Given the description of an element on the screen output the (x, y) to click on. 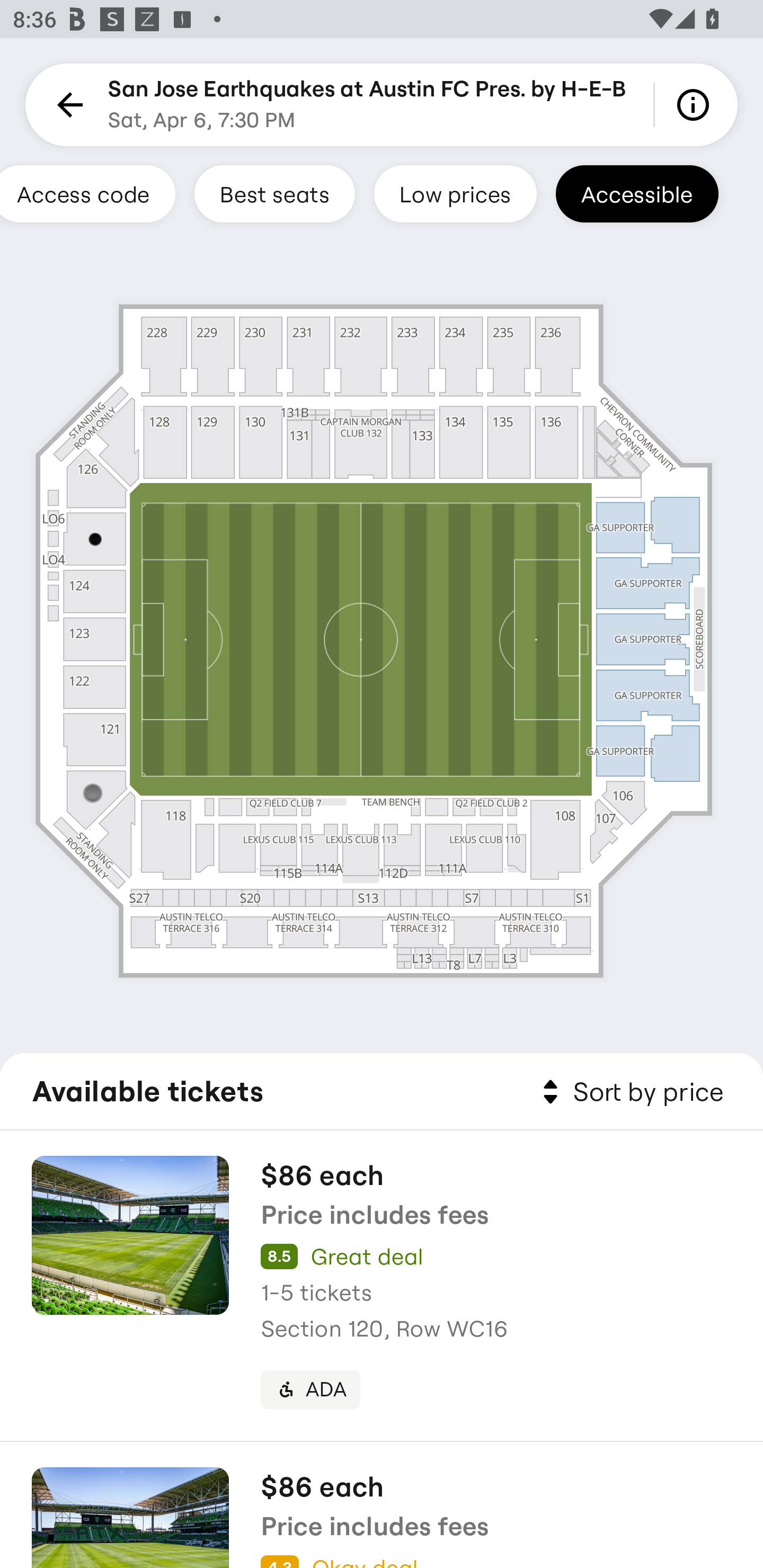
Back (66, 104)
Info (695, 104)
Access code (87, 193)
Best seats (274, 193)
Low prices (454, 193)
Accessible (636, 193)
Sort by price (629, 1091)
$86 each Price includes fees 4.3 Okay deal (381, 1505)
